Given the description of an element on the screen output the (x, y) to click on. 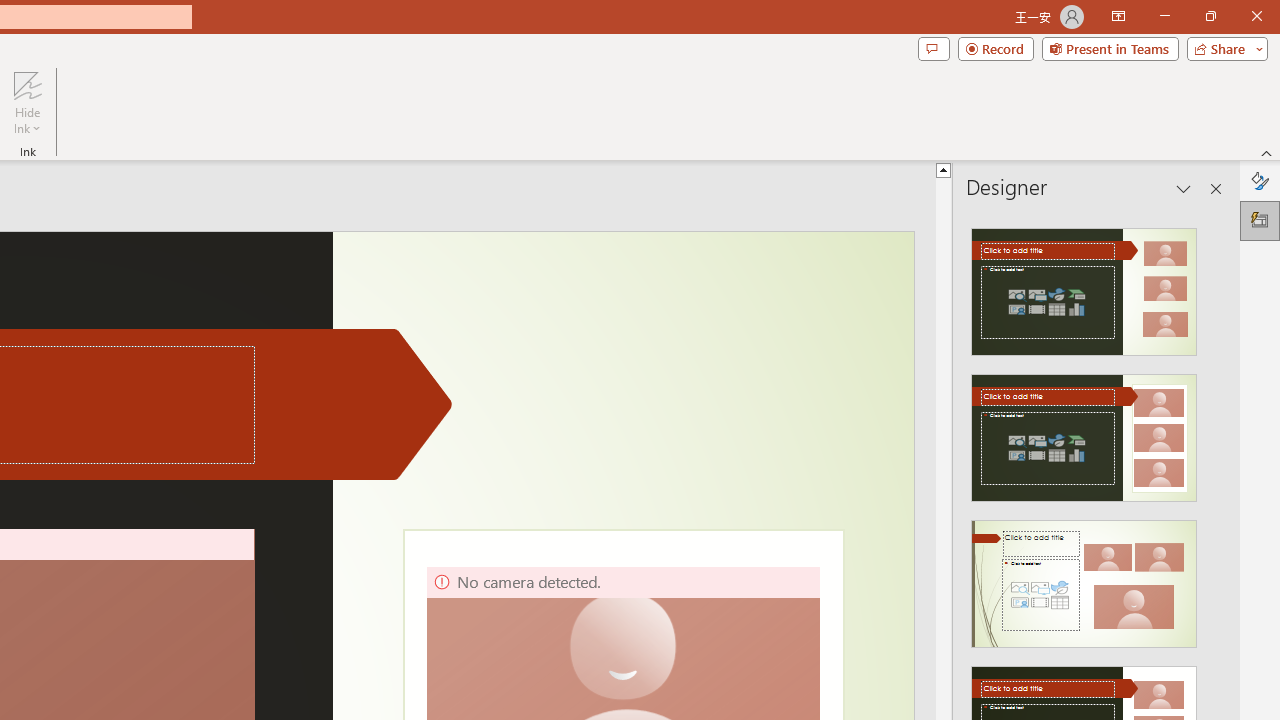
Format Background (1260, 180)
